Given the description of an element on the screen output the (x, y) to click on. 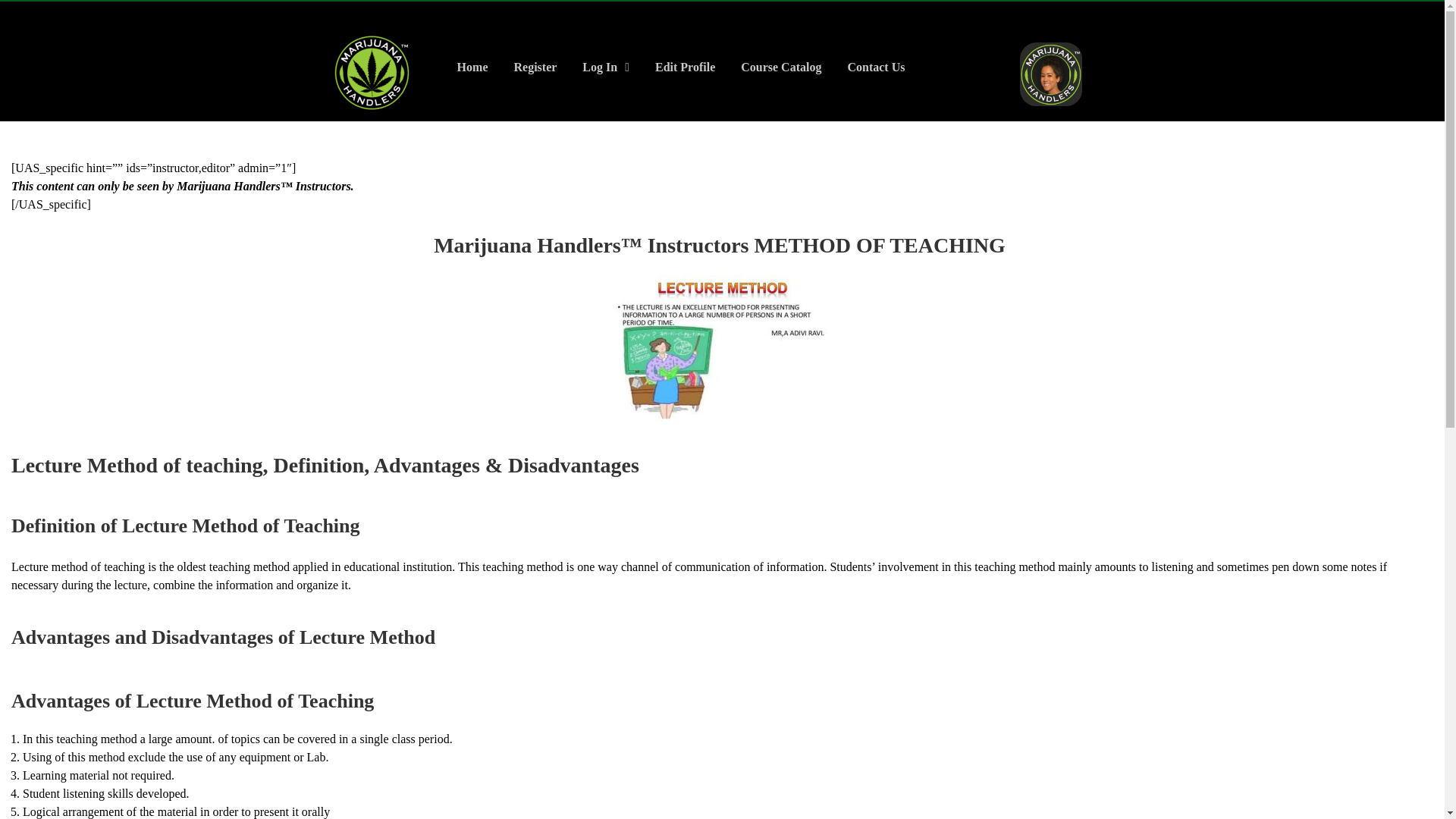
Contact Us (875, 66)
Home (472, 66)
Register (534, 66)
Edit Profile (684, 66)
Log In (605, 67)
Course Catalog (780, 66)
